Given the description of an element on the screen output the (x, y) to click on. 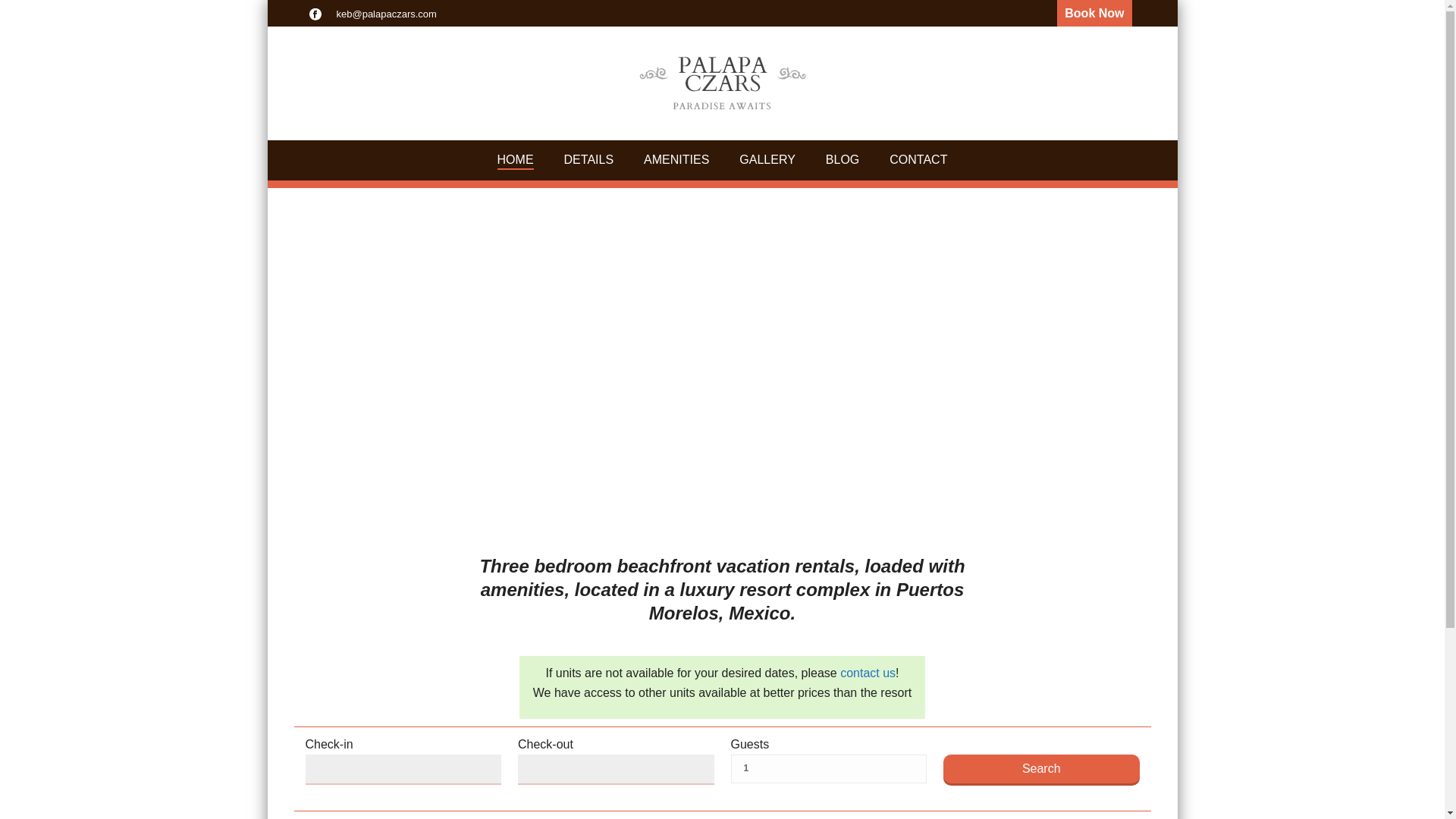
BLOG (842, 160)
AMENITIES (675, 160)
Search (1041, 768)
contact us (867, 672)
Seasonal Pricing (588, 160)
BLOG (842, 160)
HOME (514, 160)
Magnificent Details (675, 160)
DETAILS (588, 160)
DETAILS (588, 160)
